Given the description of an element on the screen output the (x, y) to click on. 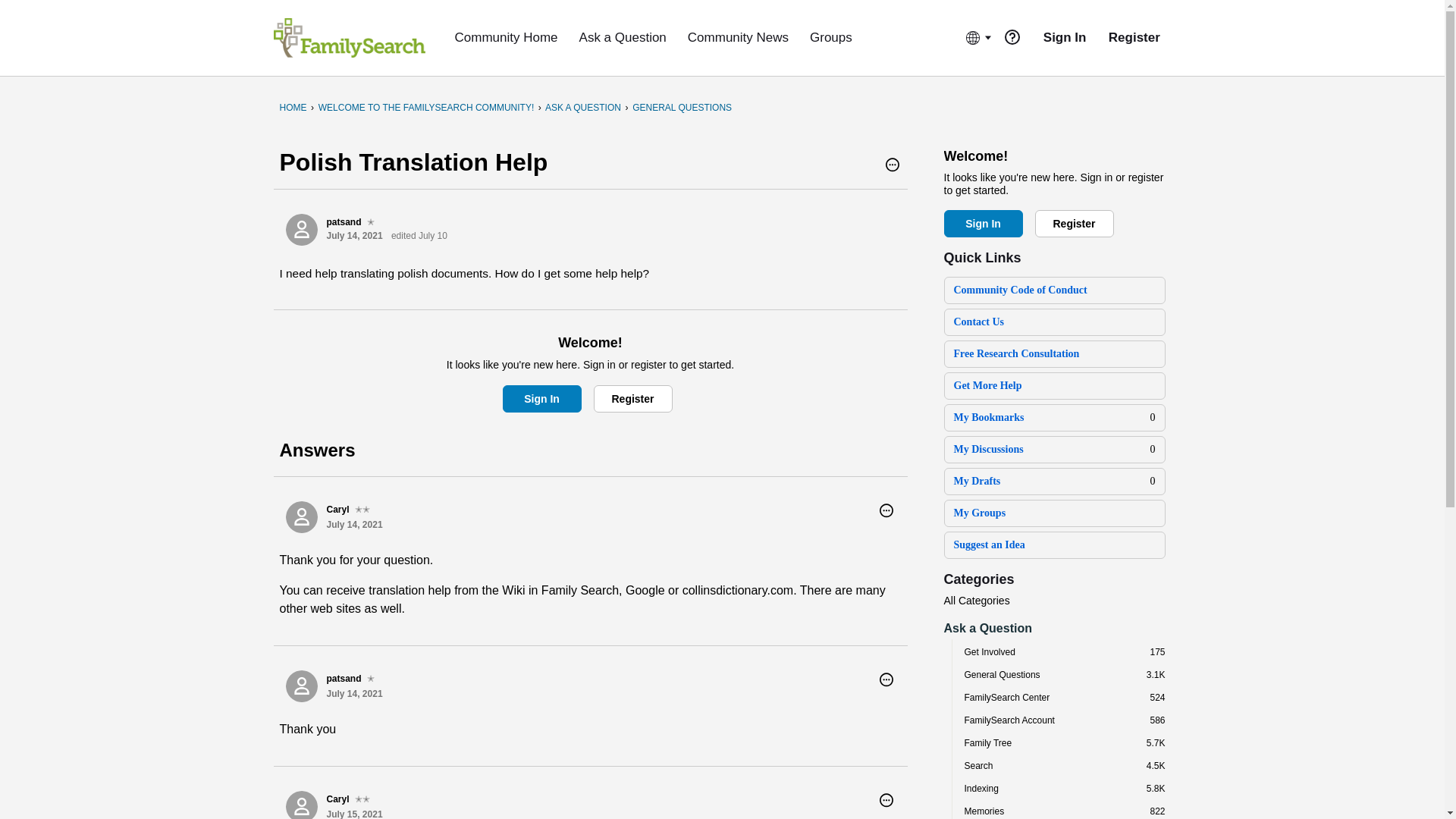
Level 2 (362, 509)
Edited July 10, 2024 5:20PM by LauraleeT1. (418, 235)
Caryl (301, 805)
Caryl (301, 517)
July 15, 2021 12:04AM (353, 814)
patsand (301, 685)
patsand (301, 229)
notice-question (1012, 36)
Level 2 (362, 798)
July 14, 2021 11:01PM (353, 235)
July 14, 2021 11:07PM (353, 693)
July 14, 2021 11:03PM (353, 524)
Register (631, 398)
Sign In (541, 398)
